Given the description of an element on the screen output the (x, y) to click on. 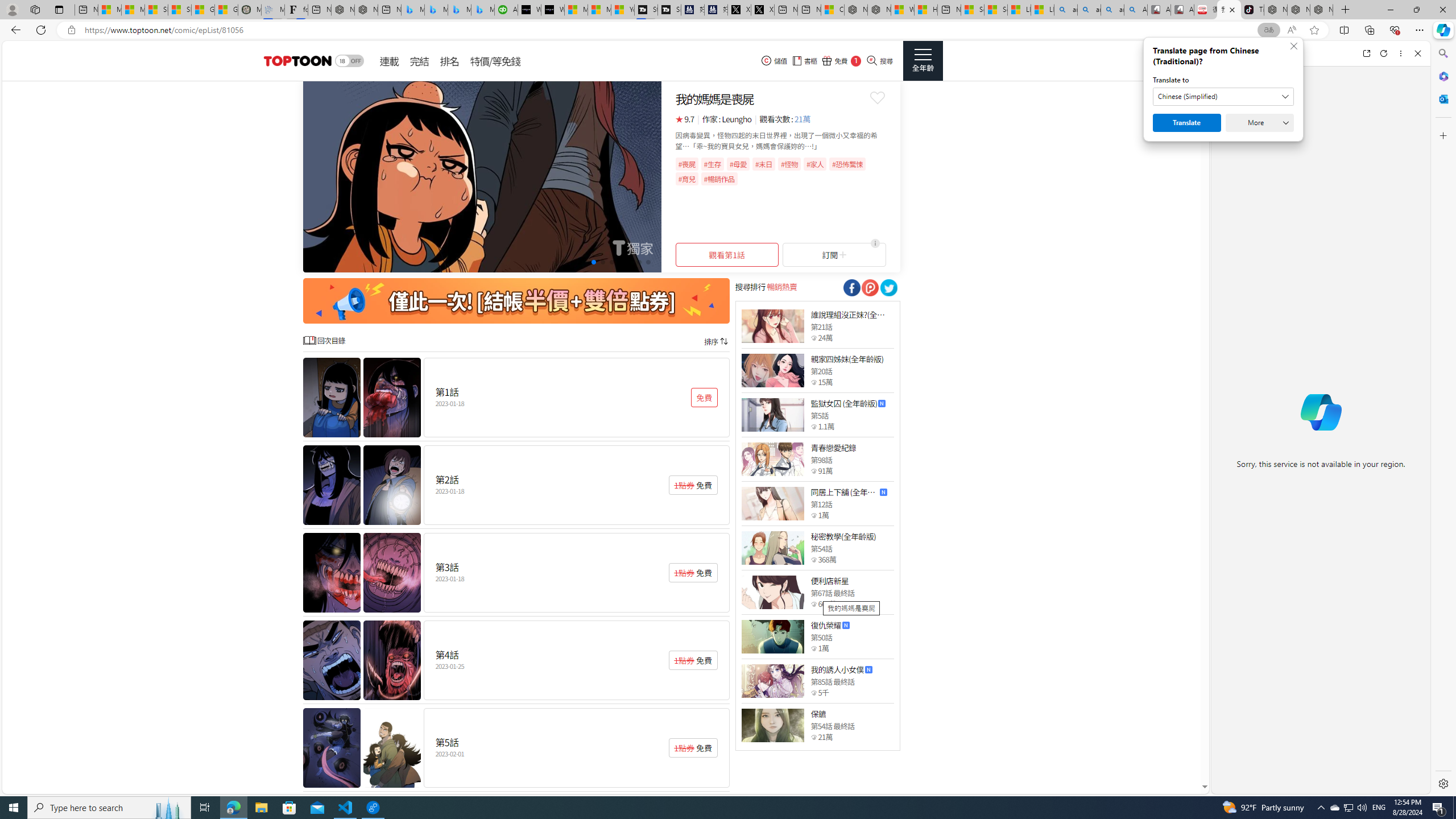
TikTok (1252, 9)
Nordace - #1 Japanese Best-Seller - Siena Smart Backpack (365, 9)
Shanghai, China weather forecast | Microsoft Weather (179, 9)
Open link in new tab (1366, 53)
Nordace Siena Pro 15 Backpack (1298, 9)
